Given the description of an element on the screen output the (x, y) to click on. 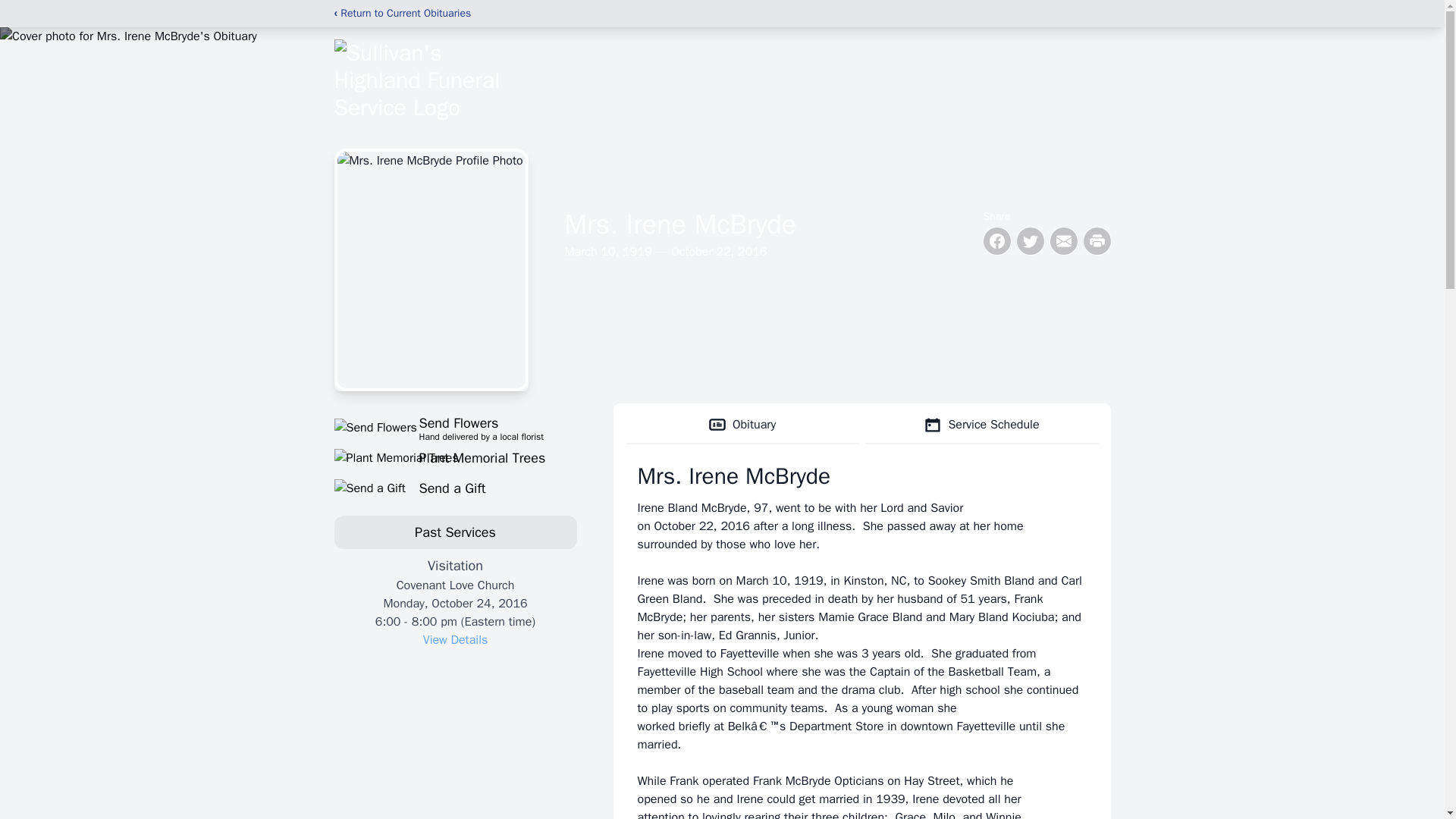
Service Schedule (980, 425)
View Details (455, 639)
Plant Memorial Trees (454, 457)
Send a Gift (454, 488)
Obituary (741, 425)
